Given the description of an element on the screen output the (x, y) to click on. 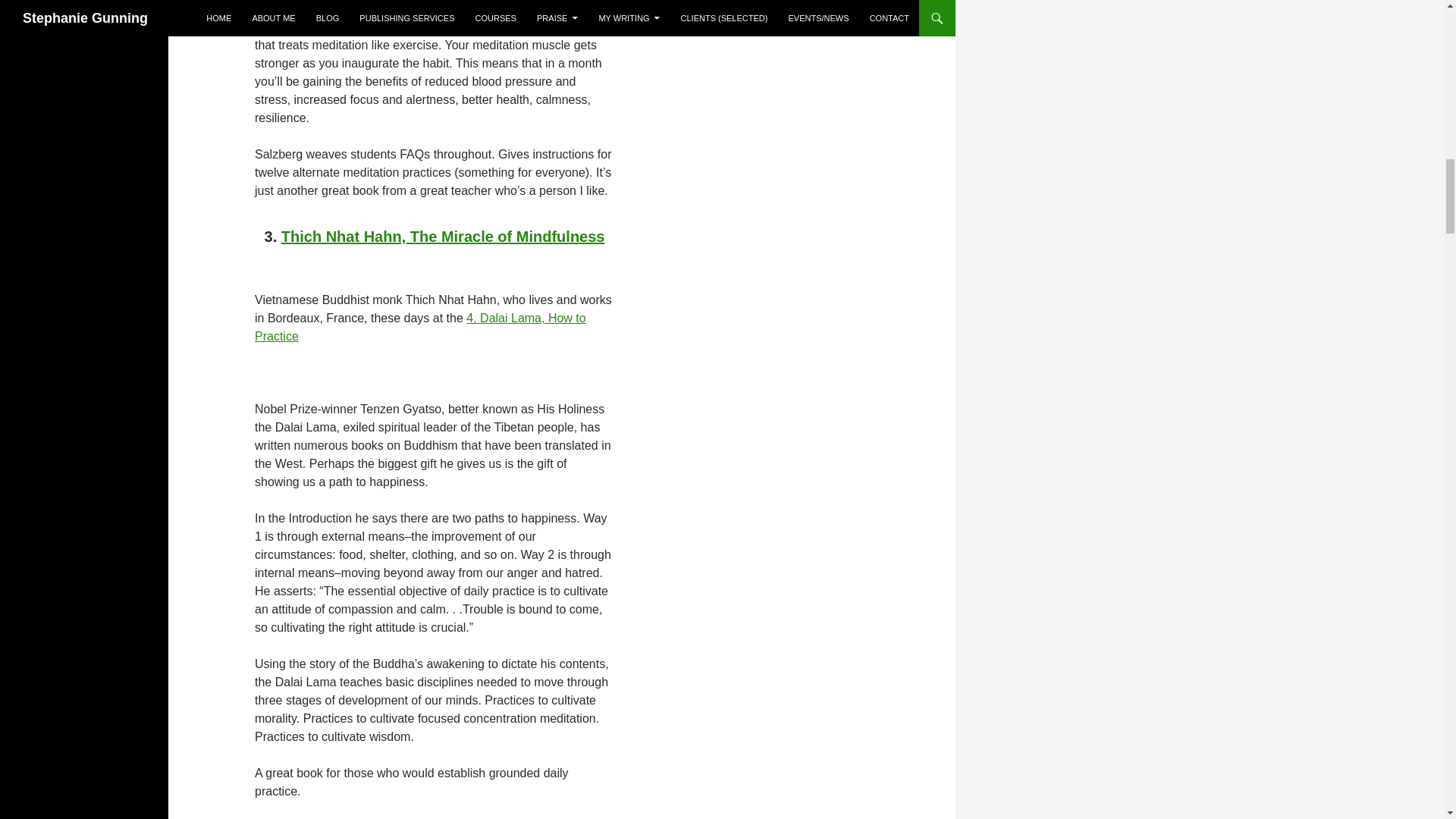
4.  (472, 318)
Dalai Lama, How to Practice (420, 327)
Thich Nhat Hahn, The Miracle of Mindfulness (443, 236)
